Given the description of an element on the screen output the (x, y) to click on. 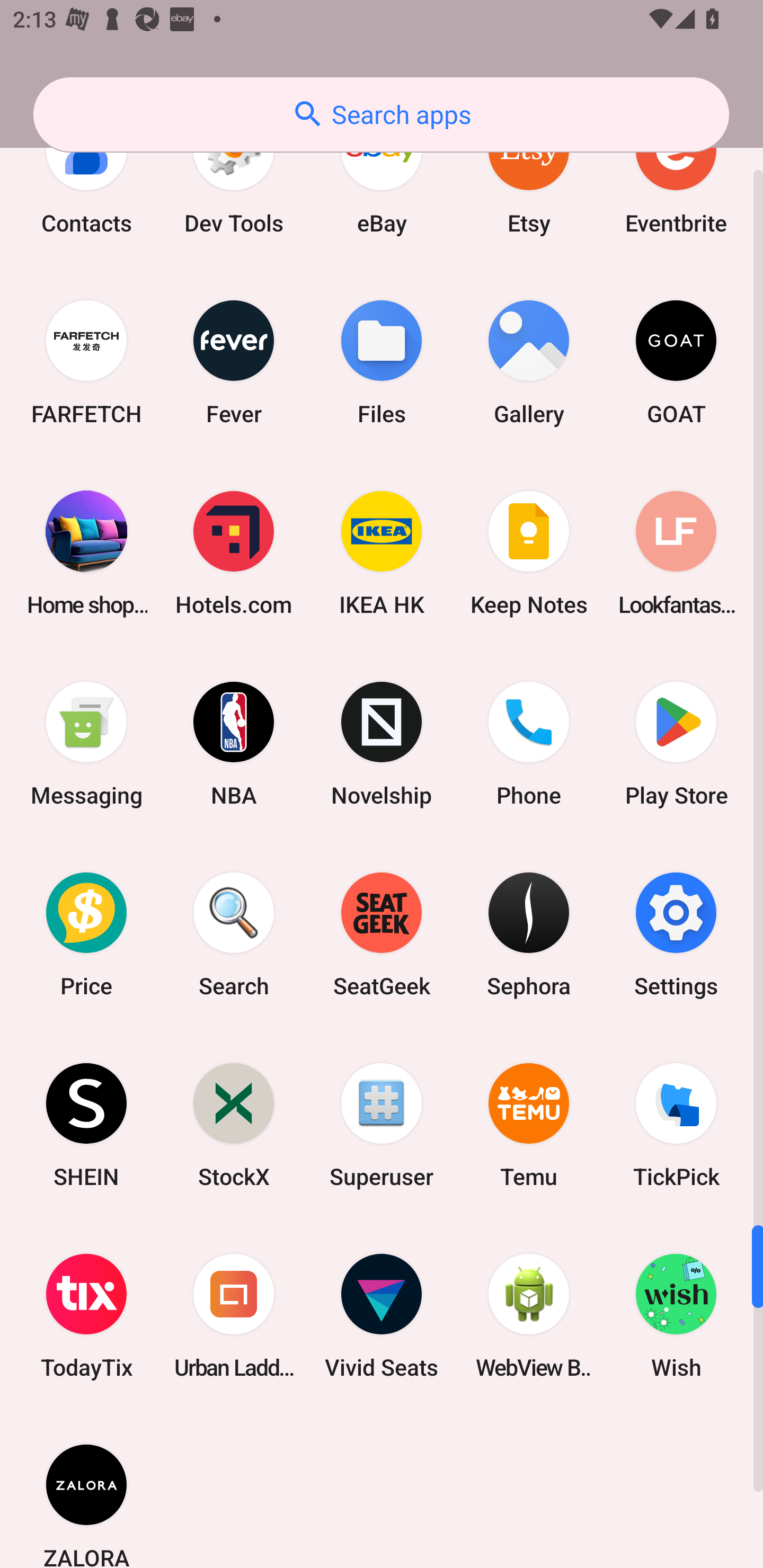
  Search apps (381, 114)
FARFETCH (86, 361)
Fever (233, 361)
Files (381, 361)
Gallery (528, 361)
GOAT (676, 361)
Home shopping (86, 553)
Hotels.com (233, 553)
IKEA HK (381, 553)
Keep Notes (528, 553)
Lookfantastic (676, 553)
Messaging (86, 743)
NBA (233, 743)
Novelship (381, 743)
Phone (528, 743)
Play Store (676, 743)
Price (86, 934)
Search (233, 934)
SeatGeek (381, 934)
Sephora (528, 934)
Settings (676, 934)
SHEIN (86, 1124)
StockX (233, 1124)
Superuser (381, 1124)
Temu (528, 1124)
TickPick (676, 1124)
TodayTix (86, 1315)
Urban Ladder (233, 1315)
Vivid Seats (381, 1315)
WebView Browser Tester (528, 1315)
Wish (676, 1315)
ZALORA (86, 1489)
